Given the description of an element on the screen output the (x, y) to click on. 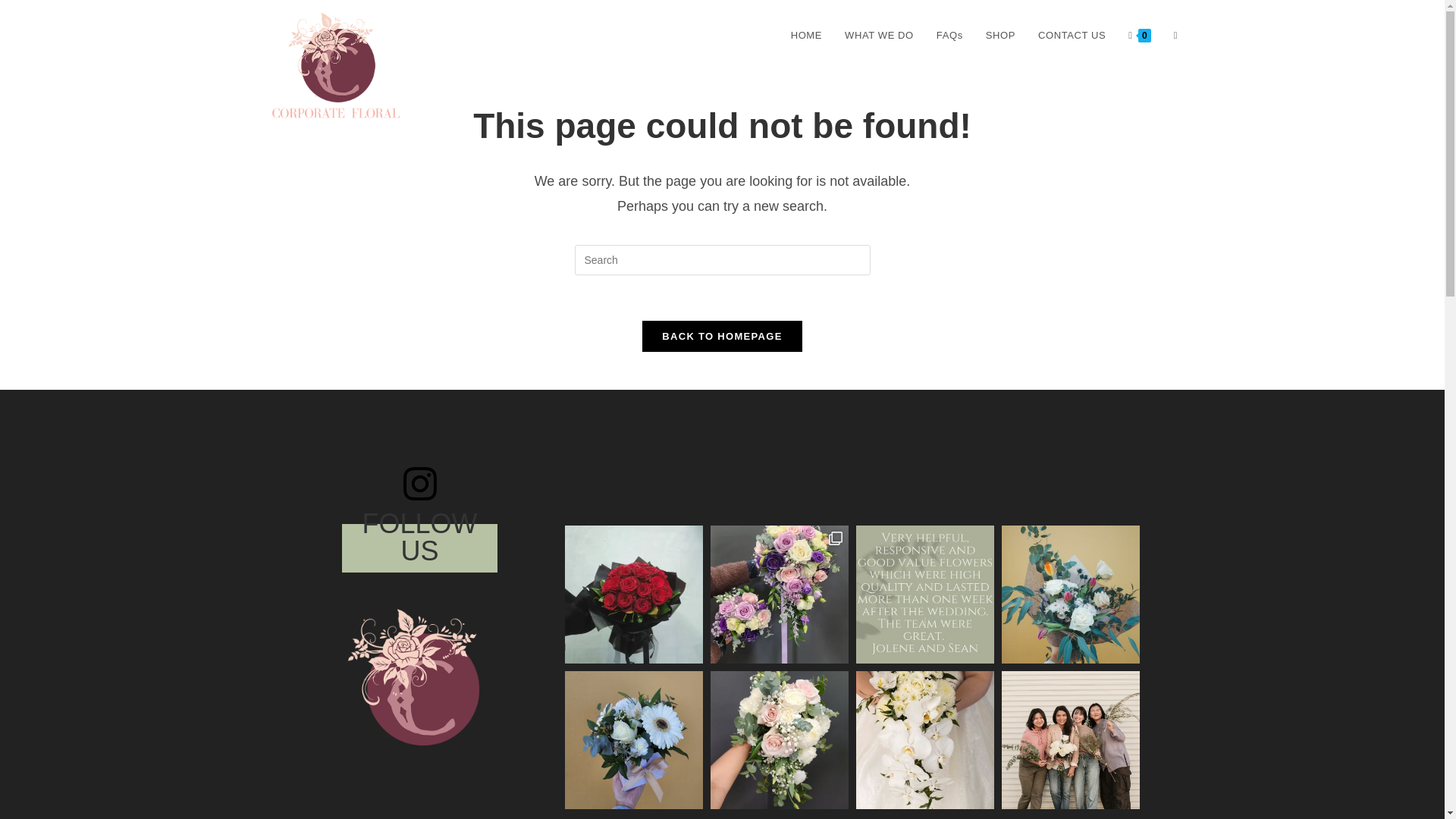
BACK TO HOMEPAGE (722, 336)
CONTACT US (1071, 35)
FOLLOW US (419, 536)
SHOP (1000, 35)
HOME (805, 35)
WHAT WE DO (878, 35)
Floral Logo (419, 681)
